Given the description of an element on the screen output the (x, y) to click on. 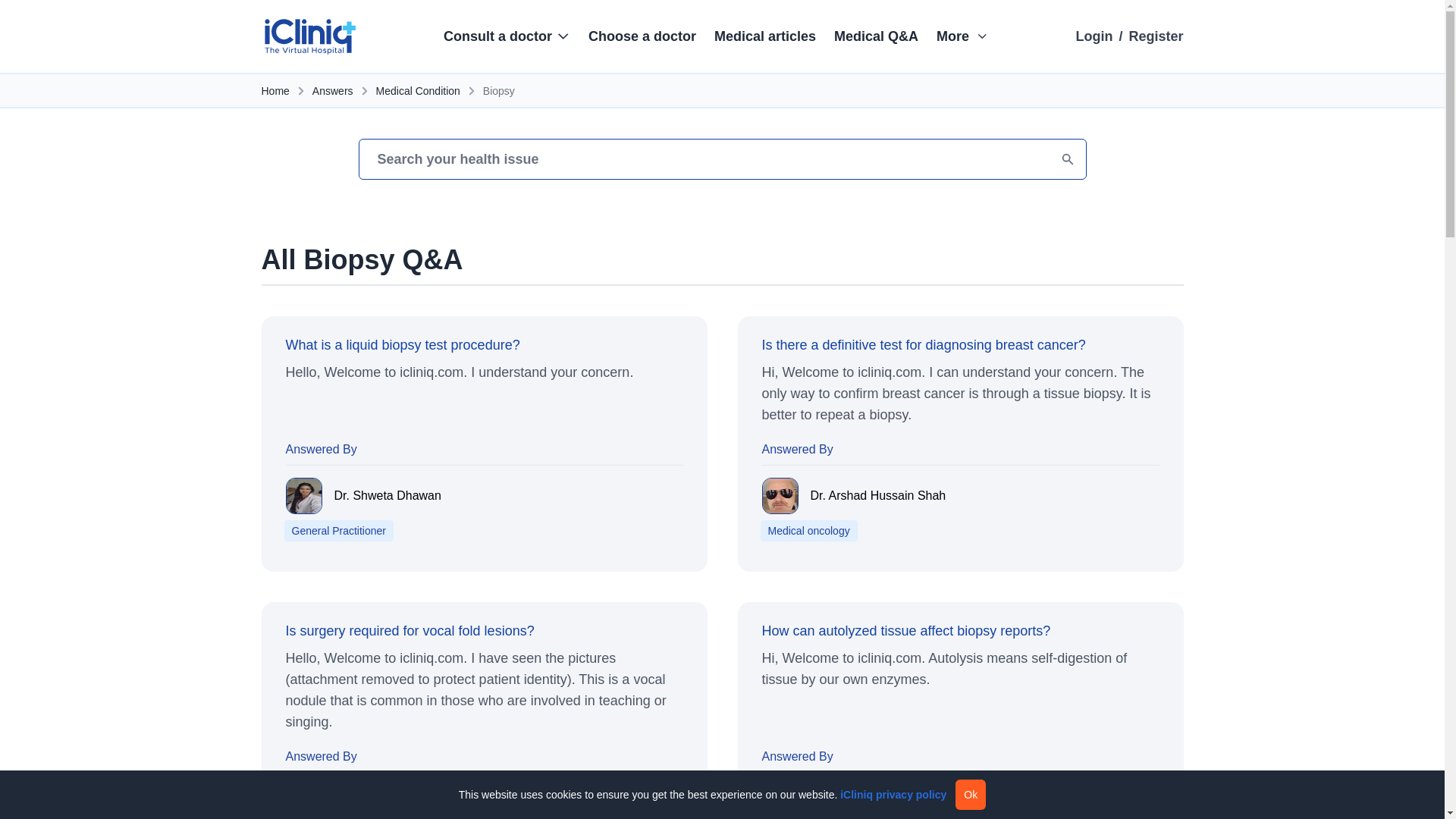
Login (1093, 36)
Medical articles (764, 36)
Choose a doctor (641, 36)
Register (1155, 36)
